Given the description of an element on the screen output the (x, y) to click on. 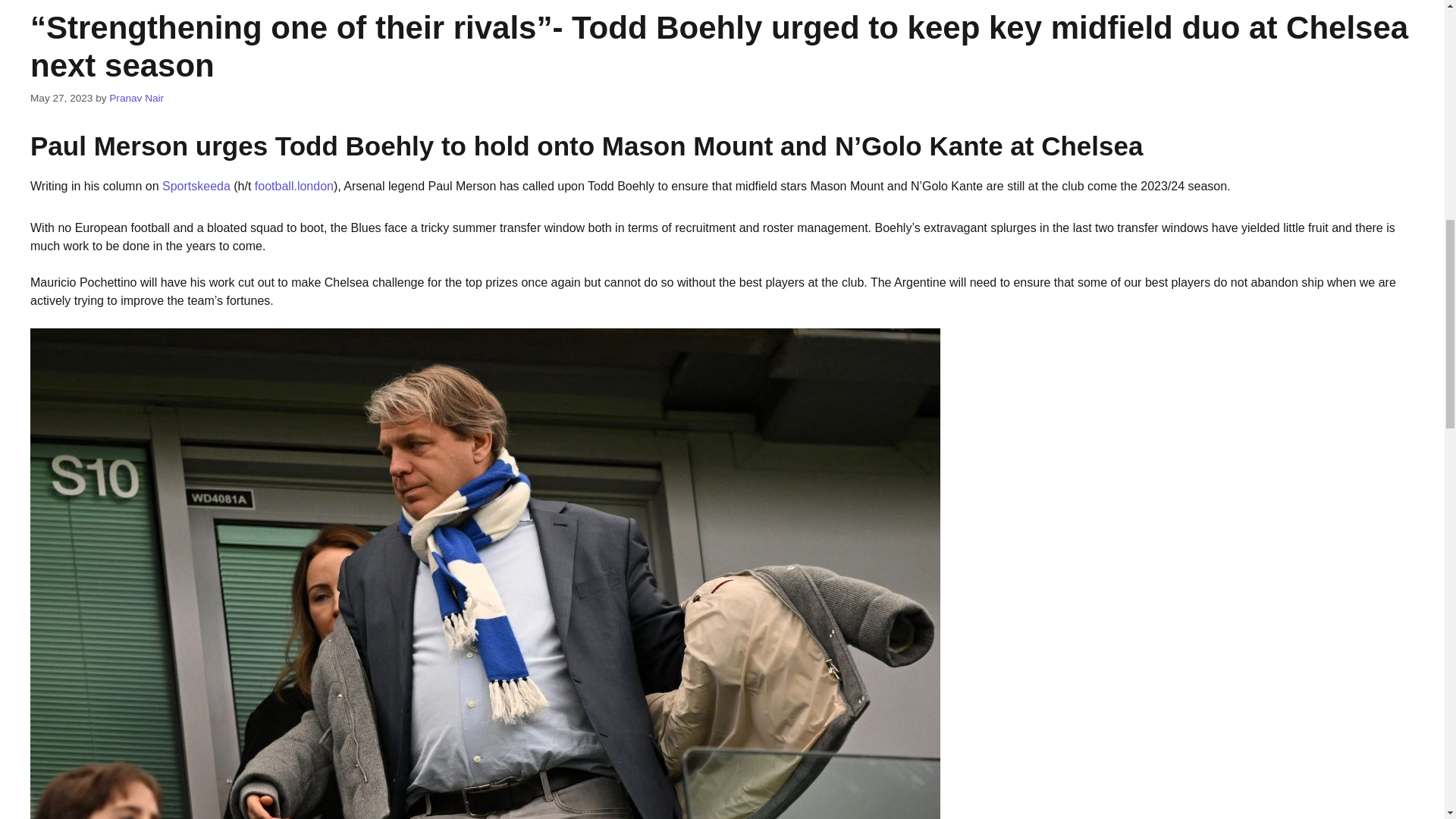
football.london (293, 185)
View all posts by Pranav Nair (136, 98)
Pranav Nair (136, 98)
Sportskeeda (195, 185)
